Given the description of an element on the screen output the (x, y) to click on. 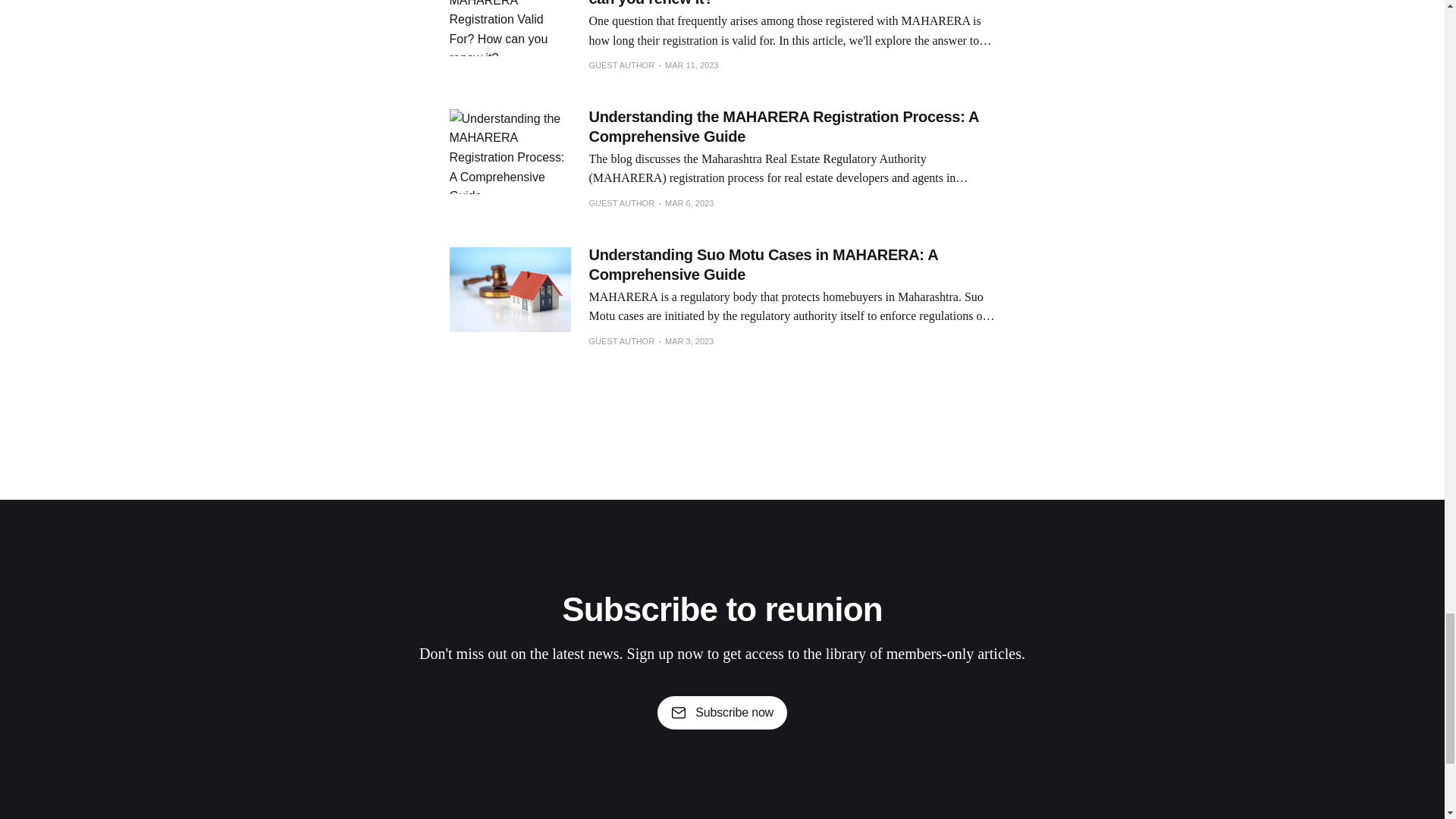
Subscribe now (722, 712)
